Given the description of an element on the screen output the (x, y) to click on. 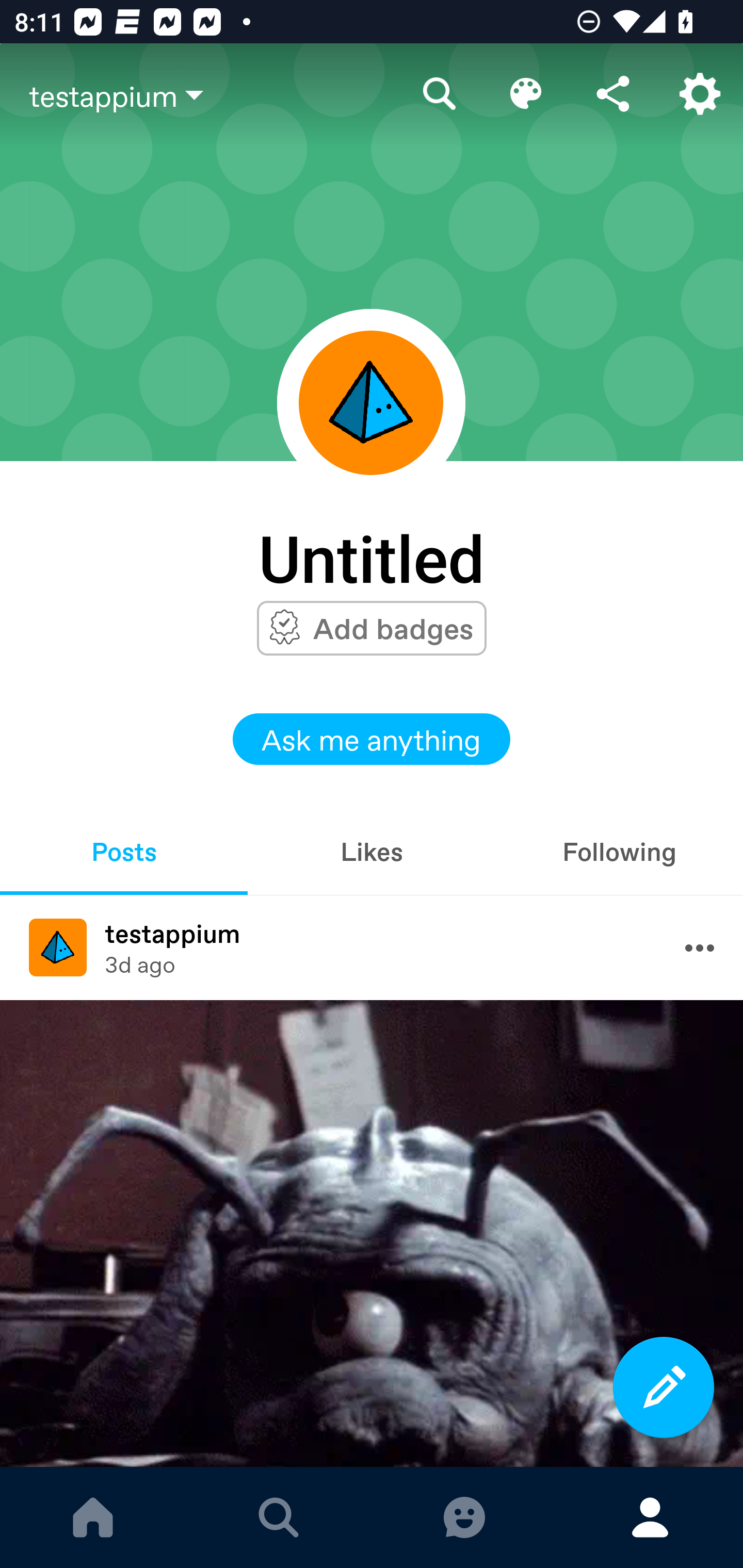
testappium (212, 95)
Search blog (439, 93)
Edit (525, 93)
Share (612, 93)
Account (699, 93)
Avatar frame (371, 402)
Add badges (393, 627)
Ask me anything (371, 739)
Likes (371, 851)
Following (619, 851)
Avatar frame testappium   testappium 3d ago (371, 947)
Compose a new post (663, 1387)
DASHBOARD (92, 1517)
EXPLORE (278, 1517)
MESSAGES (464, 1517)
ACCOUNT (650, 1517)
